Given the description of an element on the screen output the (x, y) to click on. 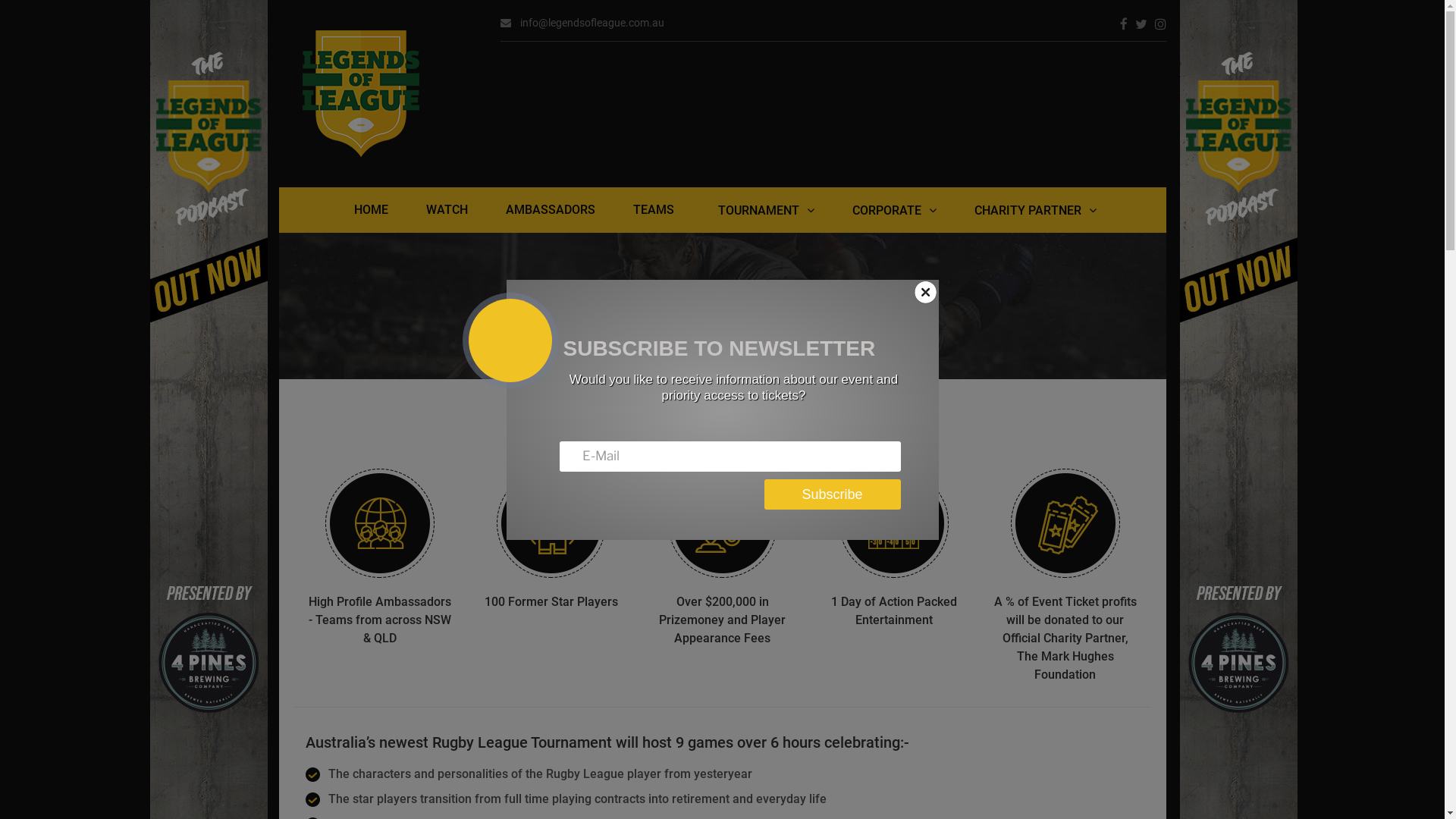
AMBASSADORS Element type: text (550, 209)
   info@legendsofleague.com.au Element type: text (582, 22)
HOME Element type: text (371, 209)
TEAMS Element type: text (653, 209)
CHARITY PARTNER Element type: text (1035, 210)
CORPORATE Element type: text (894, 210)
WATCH Element type: text (446, 209)
Subscribe Element type: text (832, 494)
TOURNAMENT Element type: text (766, 210)
